Given the description of an element on the screen output the (x, y) to click on. 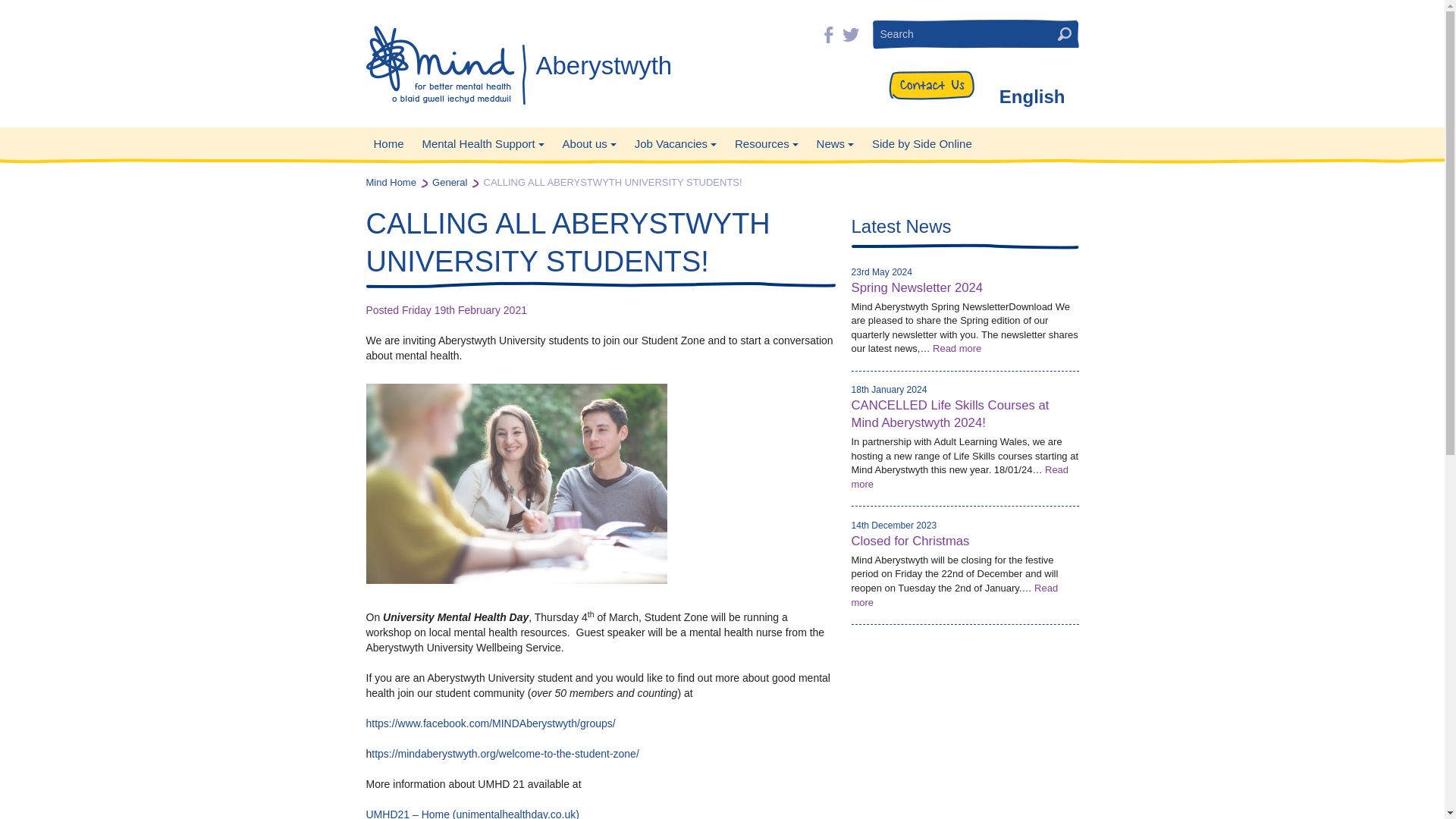
Mind Home (389, 182)
English (1032, 96)
Read more (954, 595)
News (835, 143)
Read more (959, 476)
Mental Health Support (482, 143)
Side by Side Online (921, 143)
Resources (600, 65)
Read more (766, 143)
